Given the description of an element on the screen output the (x, y) to click on. 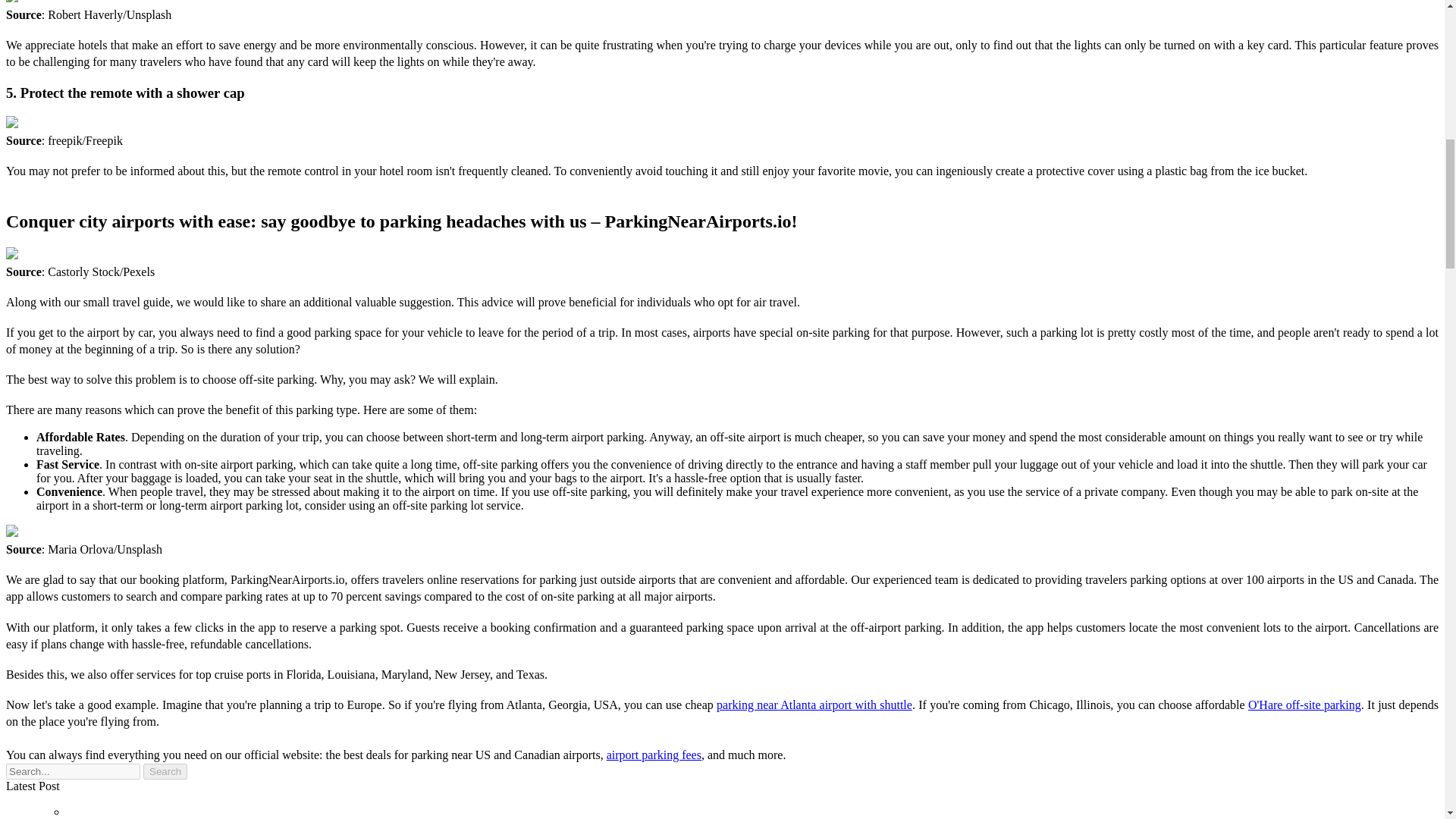
Search (164, 771)
O'Hare off-site parking (1304, 704)
airport parking fees (654, 754)
Search (164, 771)
parking near Atlanta airport with shuttle (814, 704)
